Given the description of an element on the screen output the (x, y) to click on. 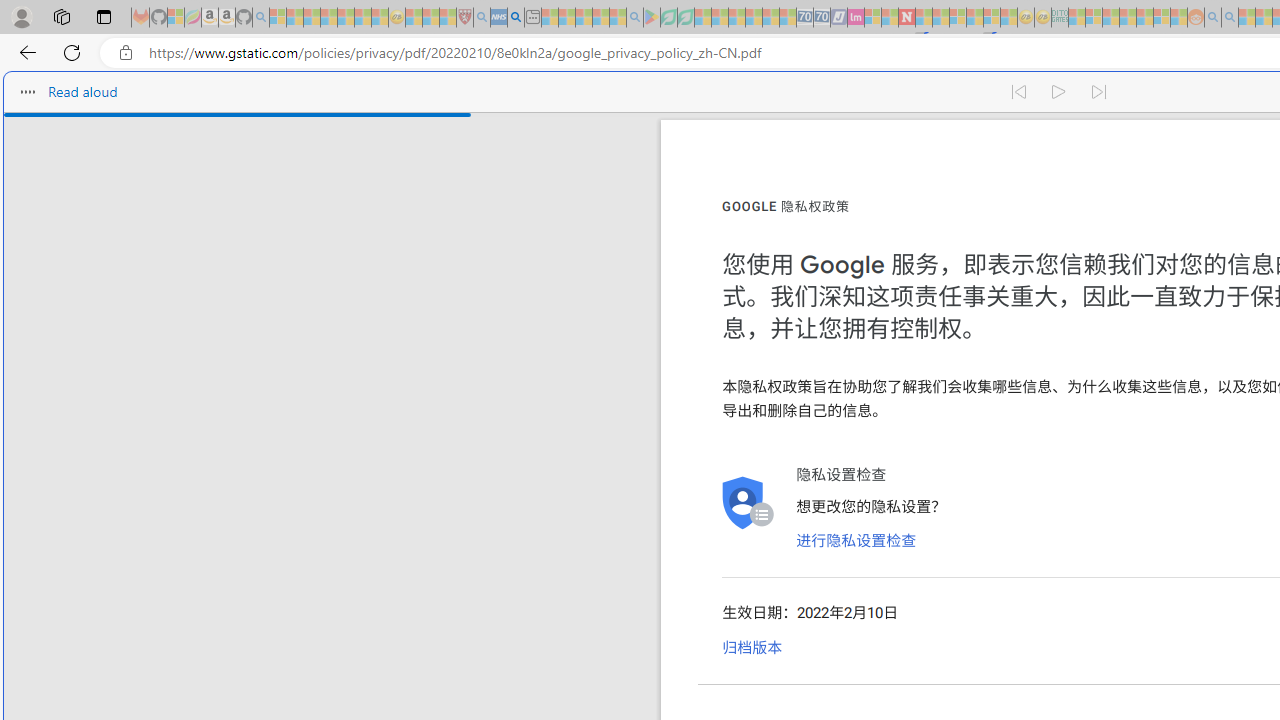
utah sues federal government - Search (515, 17)
Kinda Frugal - MSN - Sleeping (1144, 17)
Read next paragraph (1099, 92)
